Given the description of an element on the screen output the (x, y) to click on. 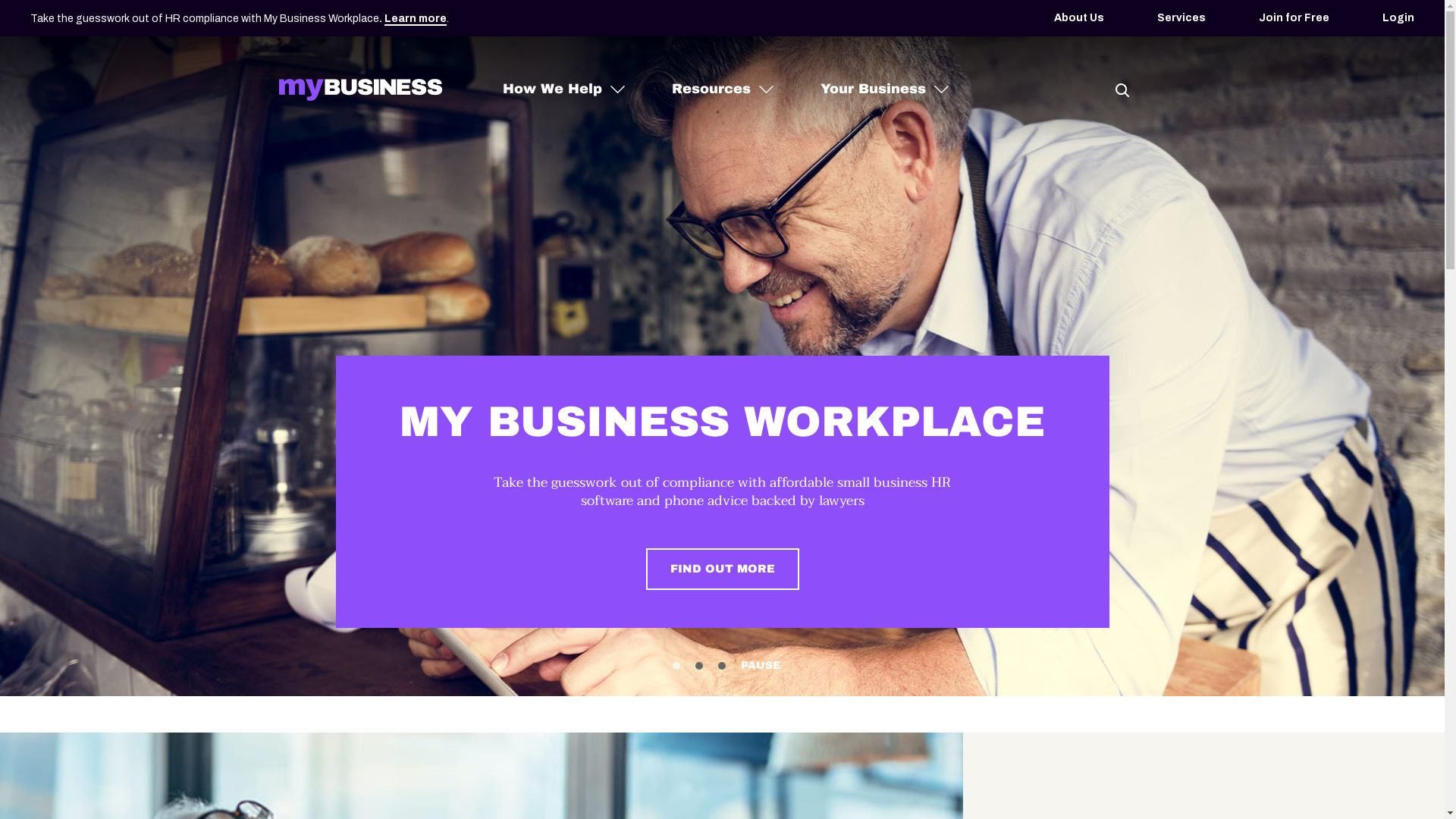
FIND OUT MORE Element type: text (722, 568)
Login Element type: text (1398, 17)
About Us Element type: text (1079, 17)
Join for Free Element type: text (1293, 17)
PAUSE Element type: text (759, 665)
Learn more Element type: text (415, 18)
Services Element type: text (1181, 17)
